Given the description of an element on the screen output the (x, y) to click on. 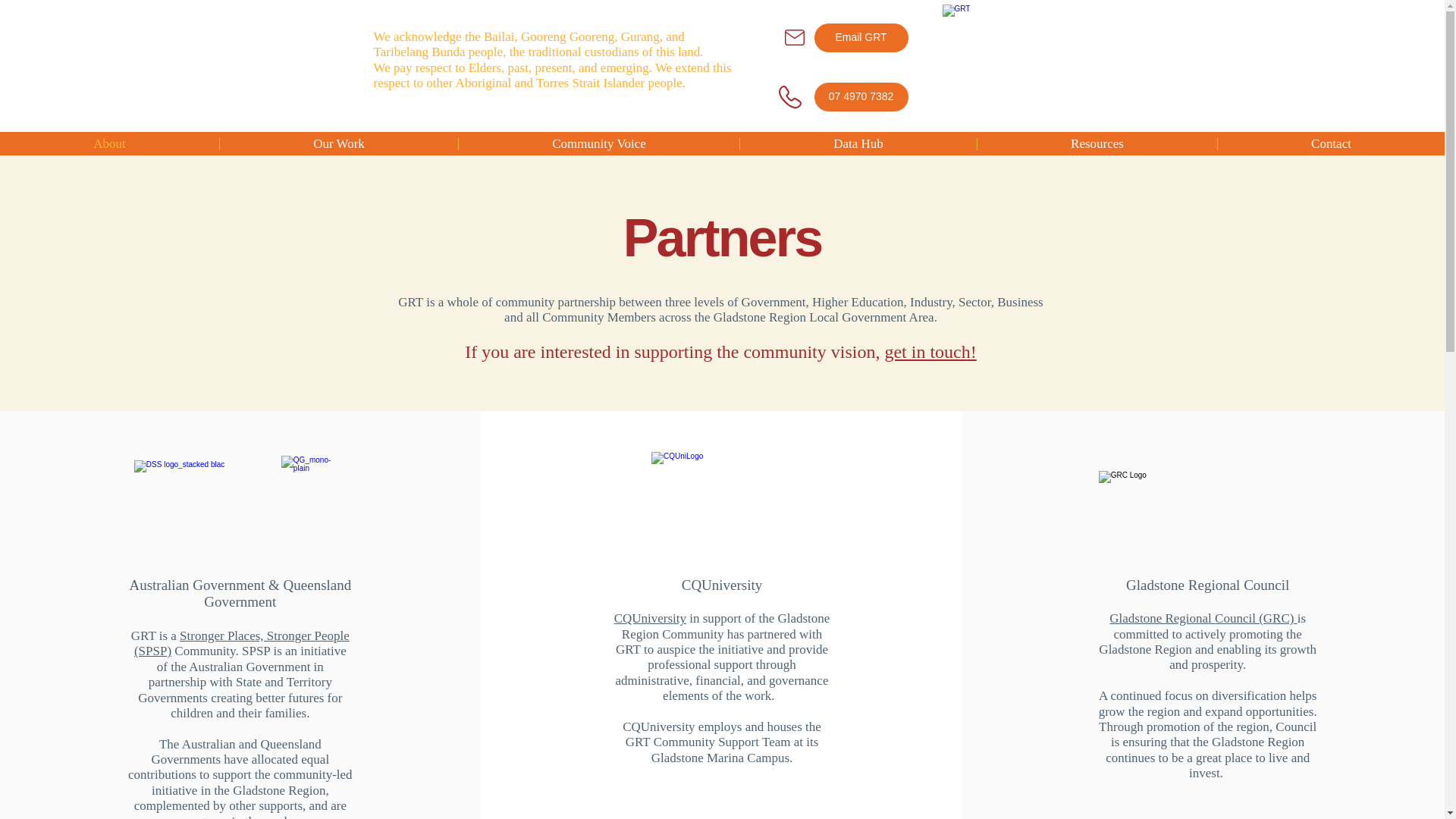
Data Hub (857, 143)
07 4970 7382 (860, 96)
CQUniversity (649, 617)
Community Voice (598, 143)
get in touch! (929, 351)
About (109, 143)
Email GRT (860, 37)
